Given the description of an element on the screen output the (x, y) to click on. 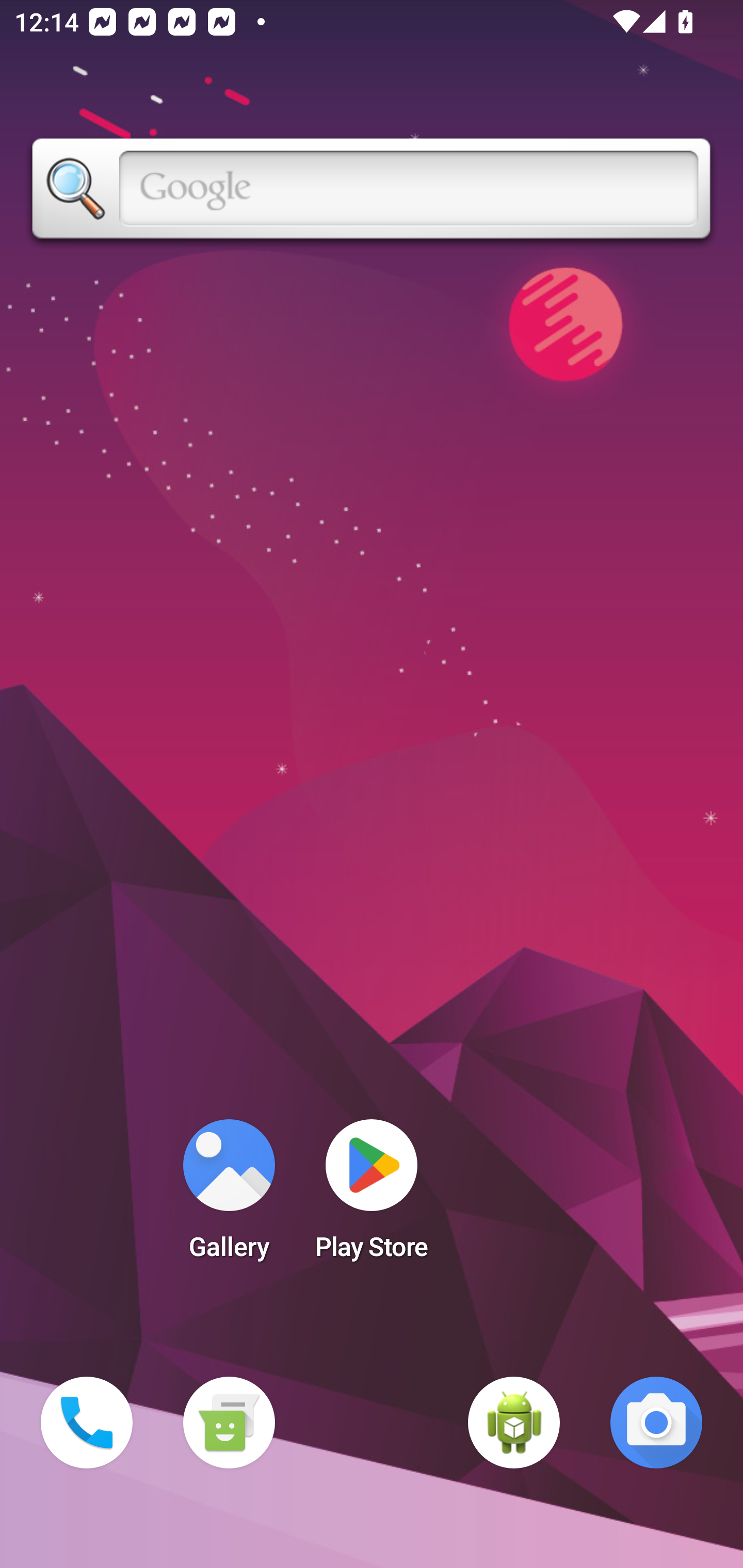
Gallery (228, 1195)
Play Store (371, 1195)
Phone (86, 1422)
Messaging (228, 1422)
WebView Browser Tester (513, 1422)
Camera (656, 1422)
